Given the description of an element on the screen output the (x, y) to click on. 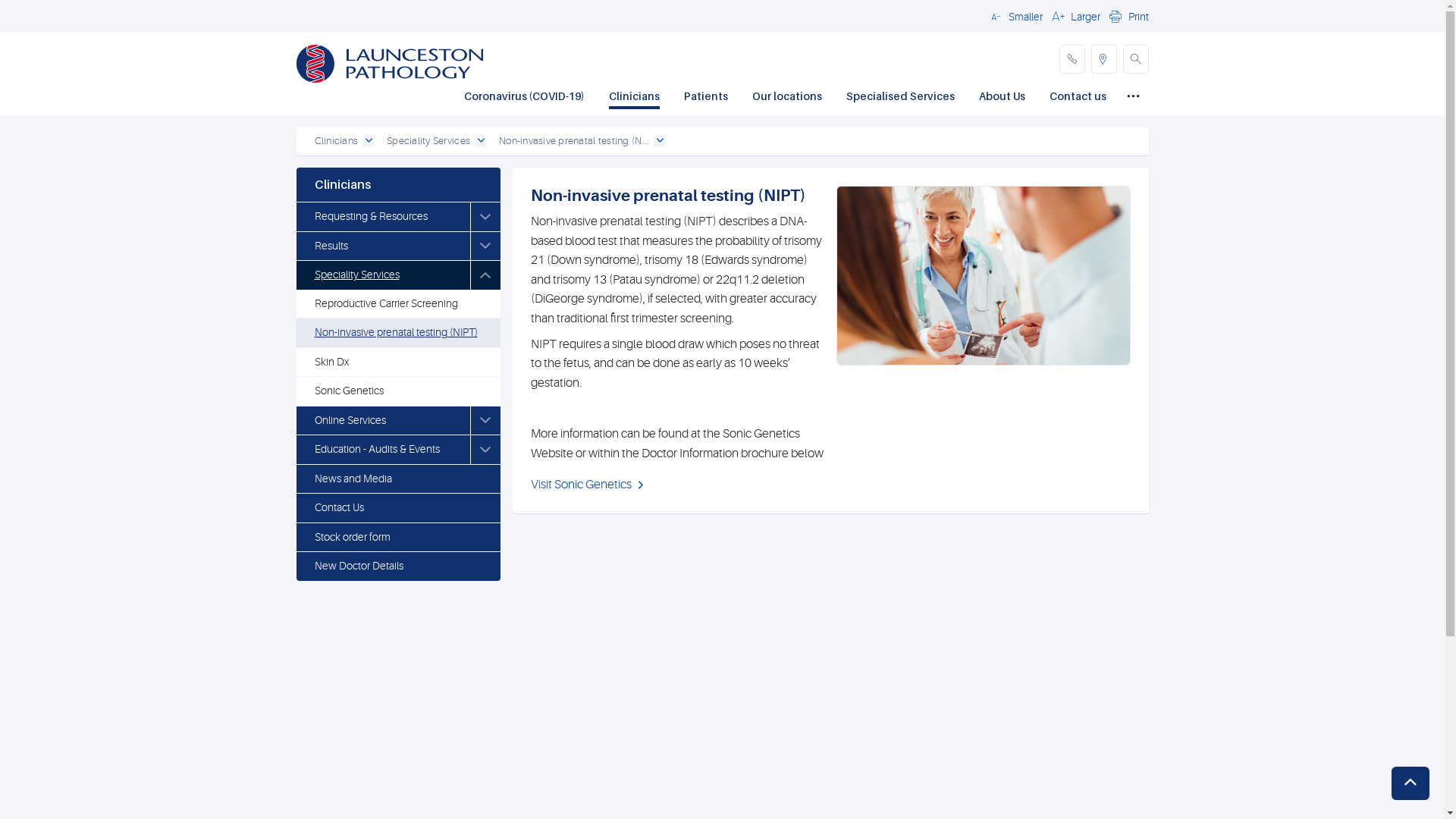
Non-invasive prenatal testing (N... Element type: text (573, 141)
About Us Element type: text (1001, 97)
Print Element type: text (1126, 15)
Clinicians Element type: text (633, 97)
Non-invasive prenatal testing (NIPT) Element type: text (397, 332)
Stock order form Element type: text (397, 537)
open dropdown Element type: hover (659, 140)
Contact us Element type: text (1077, 97)
Results Element type: text (382, 246)
Patients Element type: text (706, 97)
location Element type: hover (1103, 58)
New Doctor Details Element type: text (397, 566)
Clinicians Element type: text (397, 184)
Sonic Genetics Element type: text (397, 390)
phone Element type: hover (1071, 58)
Reproductive Carrier Screening Element type: text (397, 303)
Speciality Services Element type: text (382, 274)
News and Media Element type: text (397, 478)
open dropdown Element type: hover (368, 140)
Education - Audits & Events Element type: text (382, 449)
Larger Element type: text (1073, 15)
Online Services Element type: text (382, 420)
Clinicians Element type: text (335, 141)
Specialised Services Element type: text (900, 97)
Requesting & Resources Element type: text (382, 216)
Skin Dx Element type: text (397, 362)
Smaller Element type: text (1013, 15)
open dropdown Element type: hover (480, 140)
Visit Sonic Genetics Element type: text (589, 485)
Coronavirus (COVID-19) Element type: text (524, 97)
Speciality Services Element type: text (428, 141)
Contact Us Element type: text (397, 507)
Our locations Element type: text (787, 97)
